Given the description of an element on the screen output the (x, y) to click on. 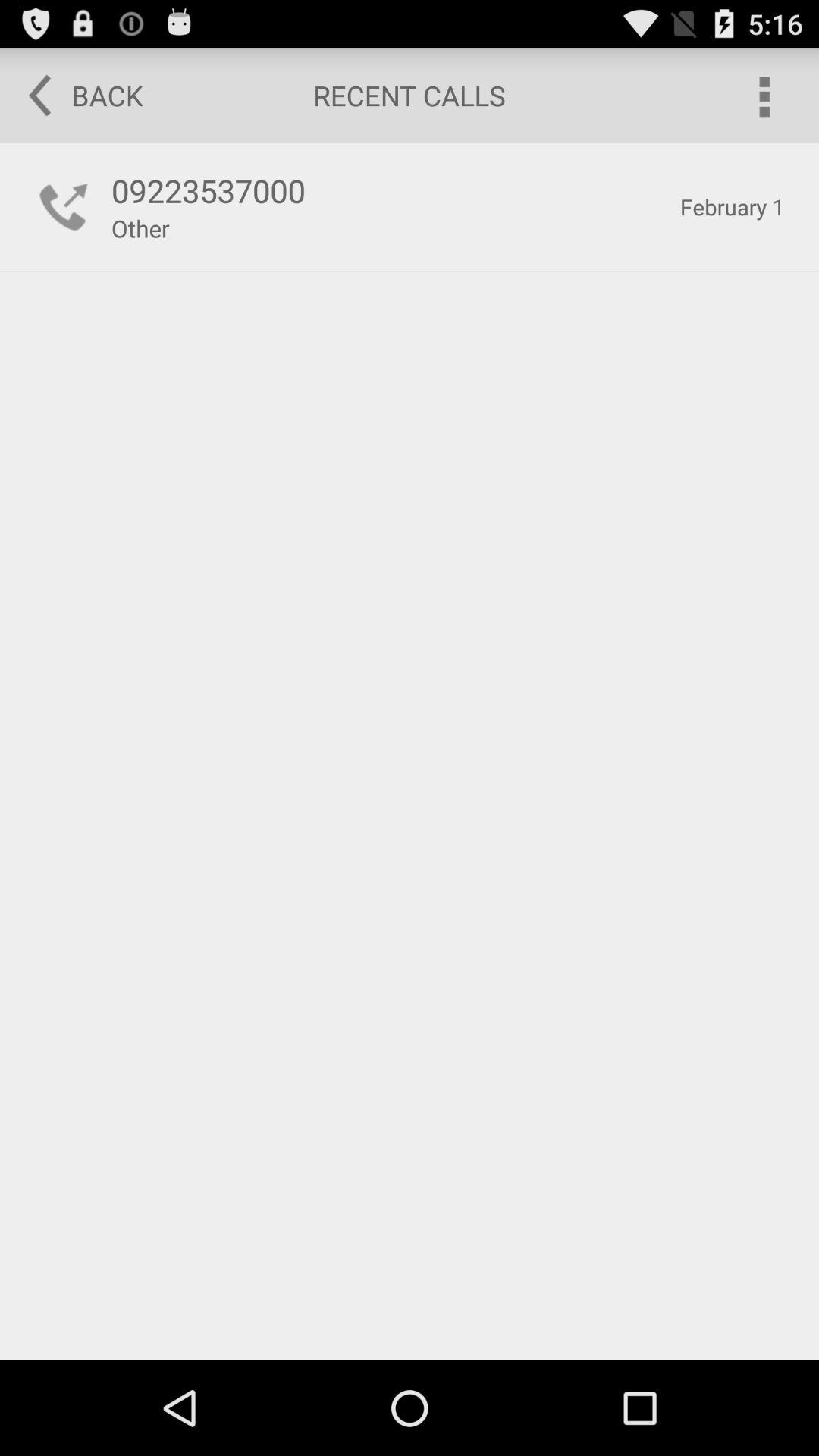
open back (75, 95)
